Given the description of an element on the screen output the (x, y) to click on. 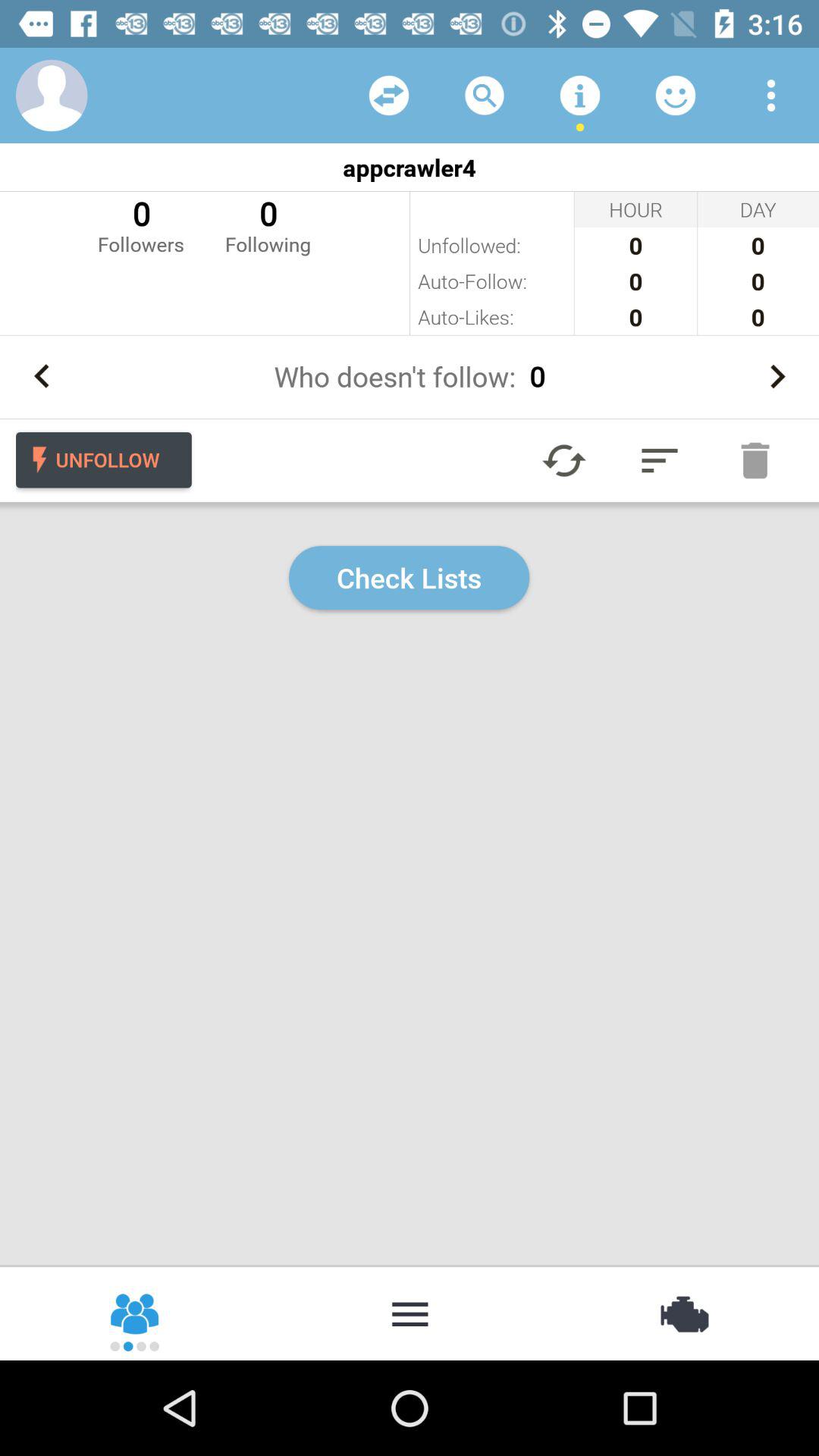
groups or chats (136, 1312)
